Given the description of an element on the screen output the (x, y) to click on. 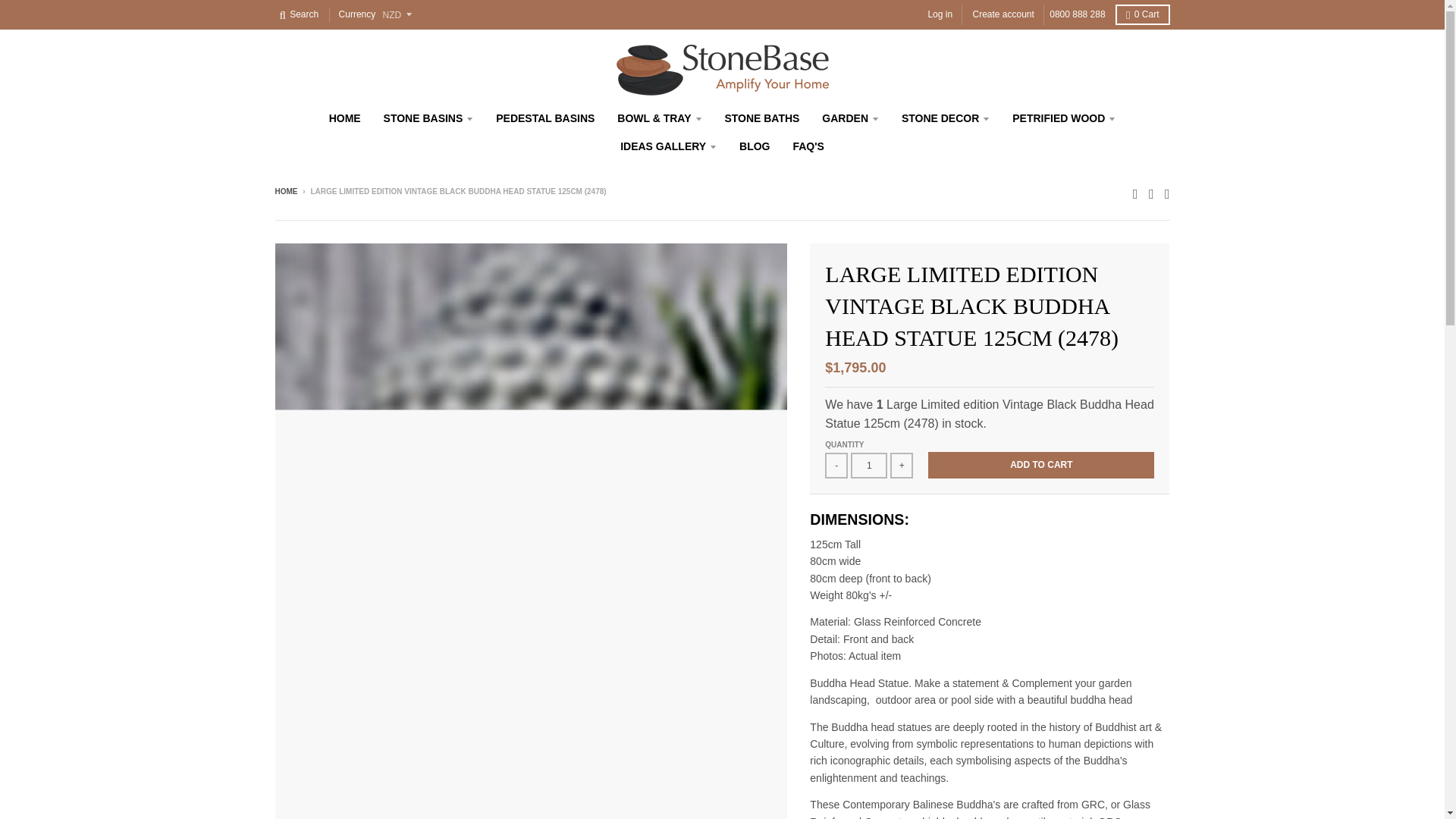
0 Cart (1142, 14)
STONE DECOR (944, 117)
STONE BATHS (761, 117)
Search (299, 14)
Log in (939, 14)
PEDESTAL BASINS (545, 117)
HOME (344, 117)
Create account (1003, 14)
STONE BASINS (428, 117)
GARDEN (850, 117)
1 (868, 465)
Back to the frontpage (286, 191)
